Given the description of an element on the screen output the (x, y) to click on. 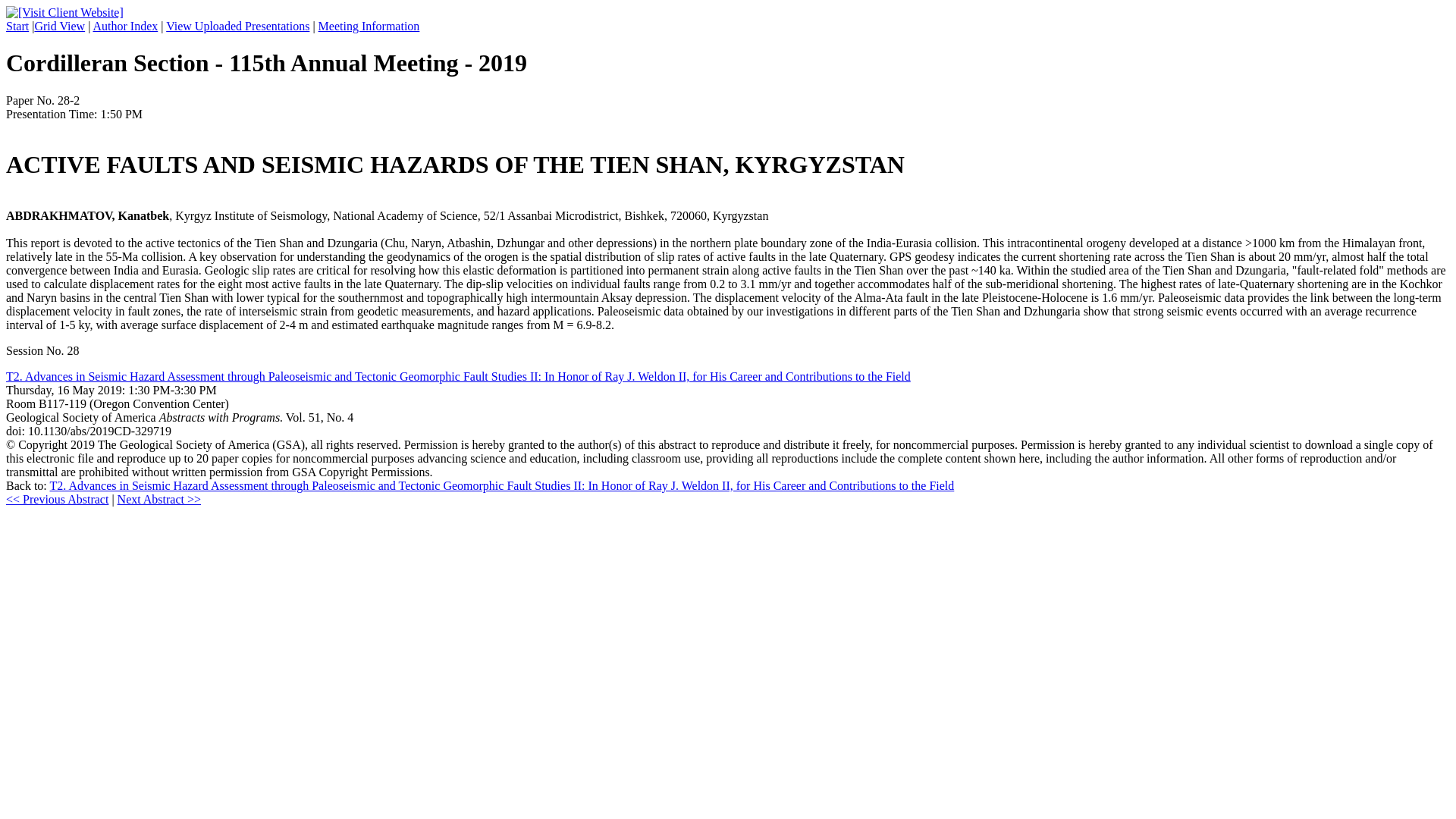
Author Index (125, 25)
Grid View (58, 25)
View Uploaded Presentations (236, 25)
Start (17, 25)
Meeting Information (369, 25)
